Given the description of an element on the screen output the (x, y) to click on. 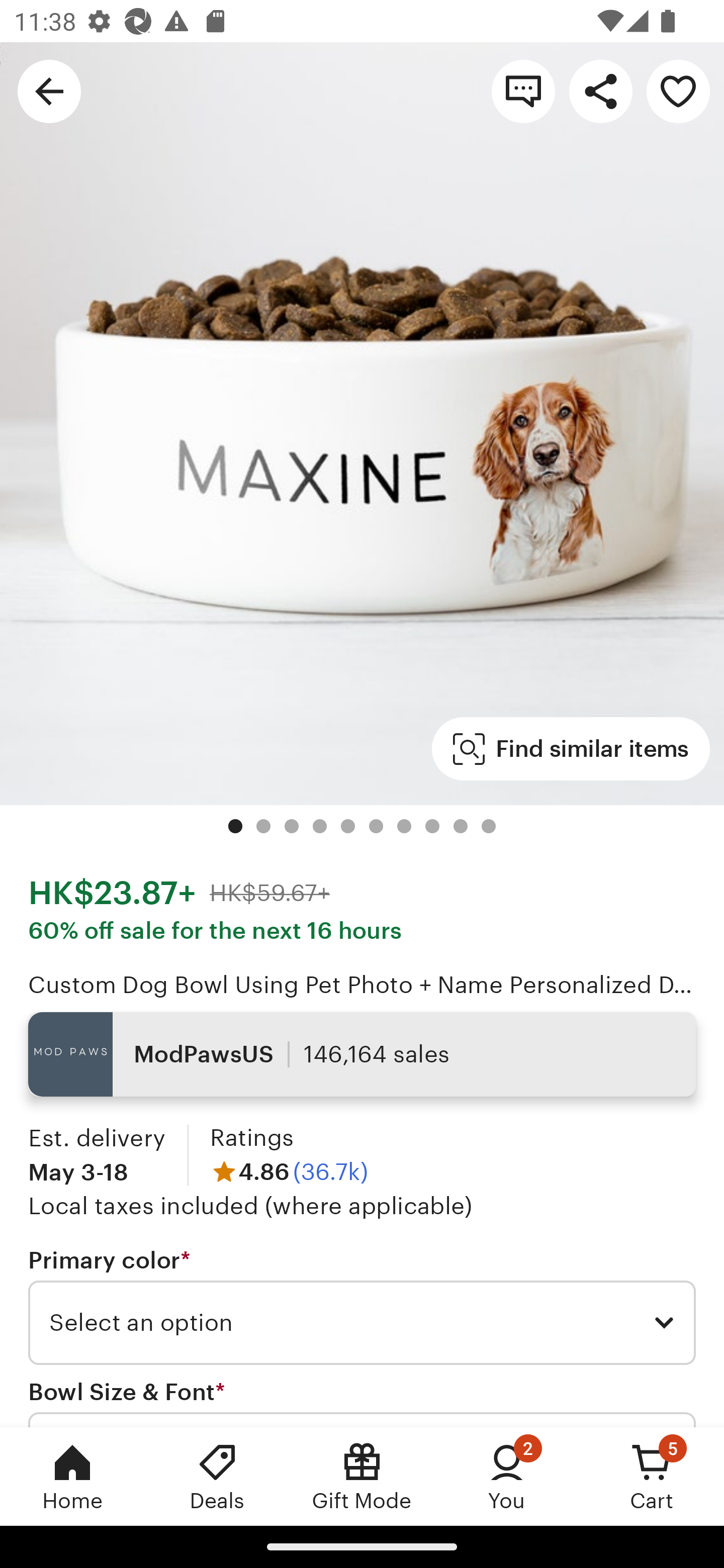
Navigate up (49, 90)
Contact shop (523, 90)
Share (600, 90)
Find similar items (571, 748)
ModPawsUS 146,164 sales (361, 1054)
Ratings (251, 1137)
4.86 (36.7k) (288, 1171)
Primary color * Required Select an option (361, 1306)
Select an option (361, 1323)
Bowl Size & Font * Required Select an option (361, 1402)
Deals (216, 1475)
Gift Mode (361, 1475)
You, 2 new notifications You (506, 1475)
Cart, 5 new notifications Cart (651, 1475)
